Given the description of an element on the screen output the (x, y) to click on. 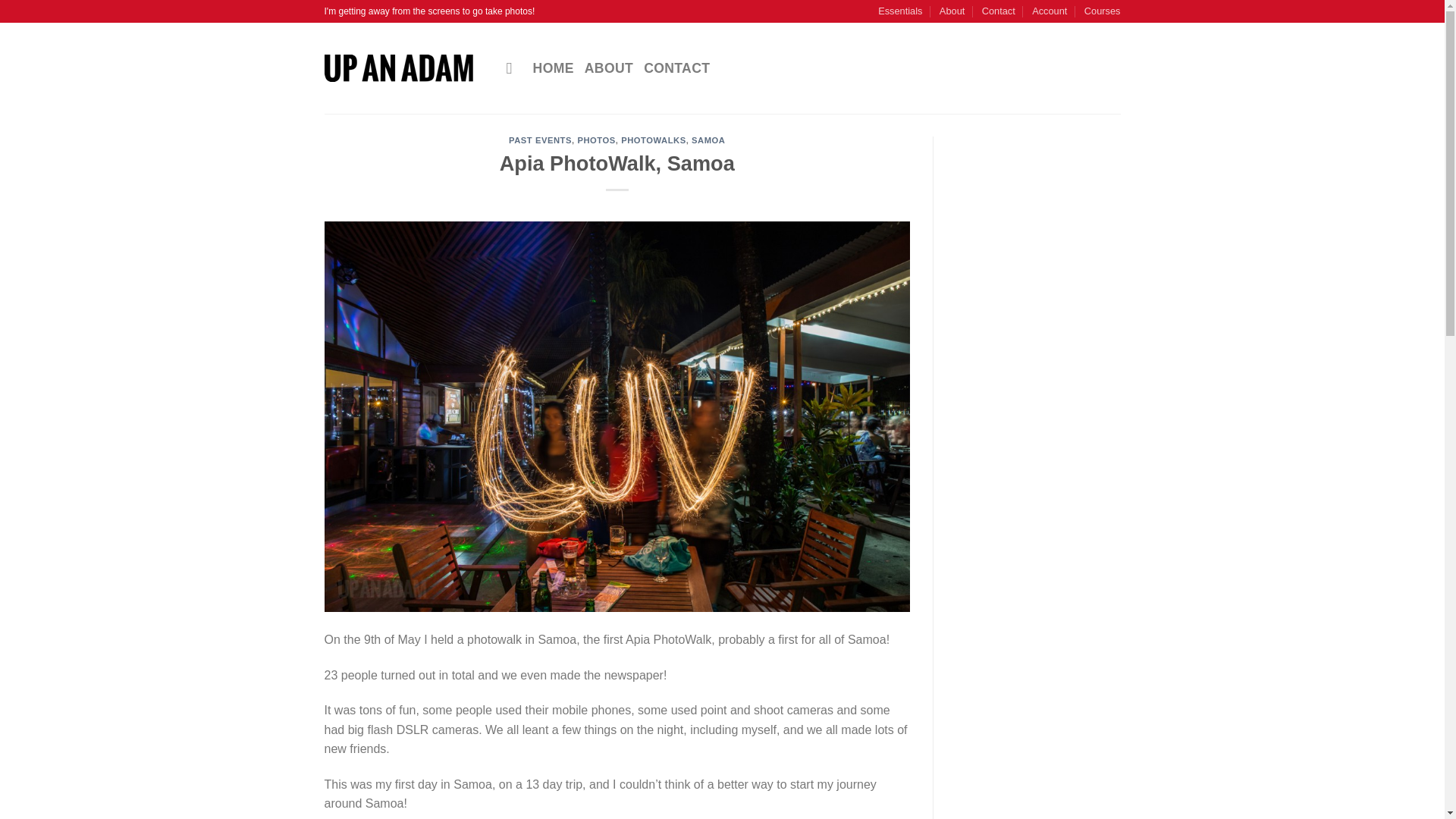
Courses (1102, 11)
PAST EVENTS (540, 139)
Account (1049, 11)
ABOUT (609, 67)
CONTACT (676, 67)
PHOTOS (595, 139)
Essentials (899, 11)
HOME (552, 67)
Contact (997, 11)
About (951, 11)
PHOTOWALKS (653, 139)
Up An Adam - Get up and take a look around (403, 67)
SAMOA (708, 139)
